Given the description of an element on the screen output the (x, y) to click on. 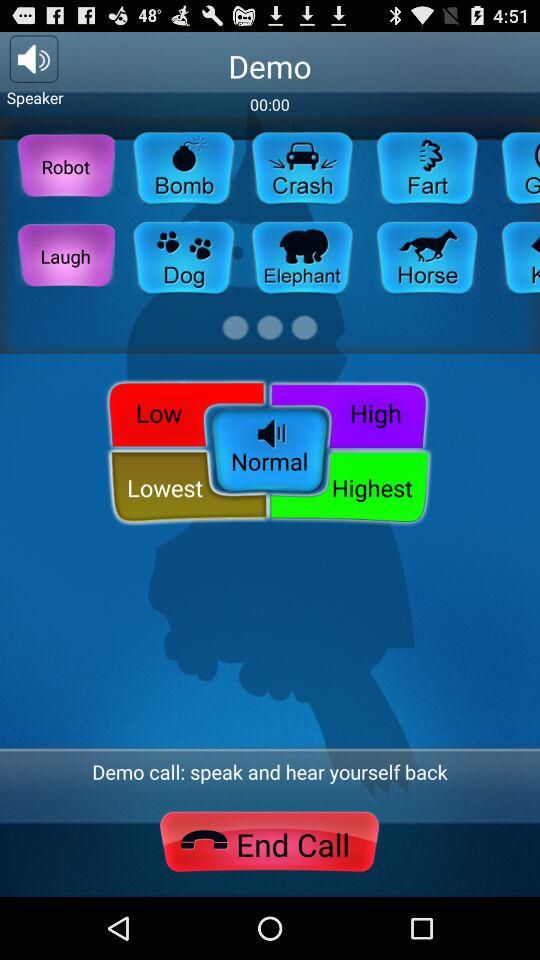
open low icon (181, 412)
